Given the description of an element on the screen output the (x, y) to click on. 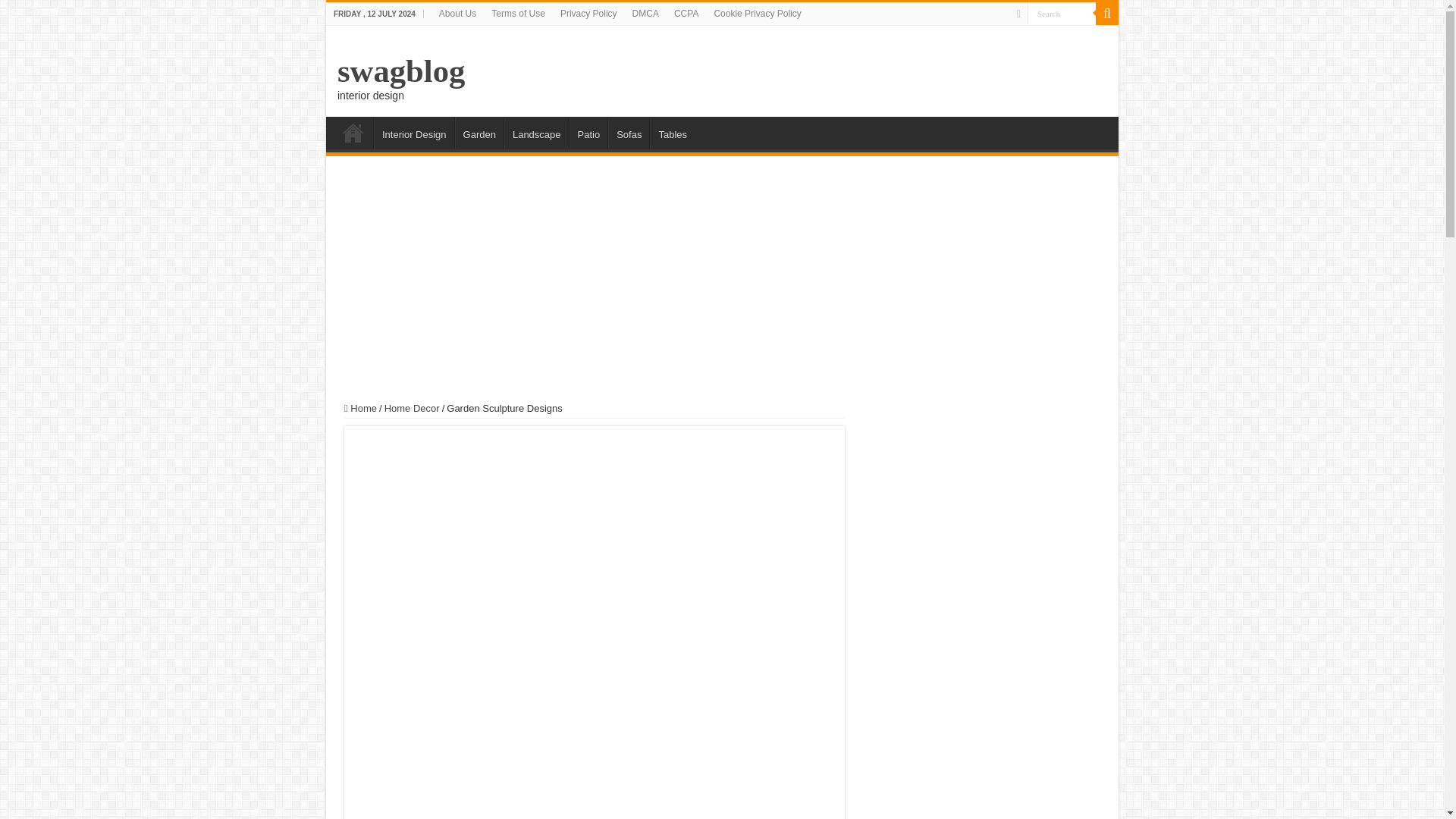
swagblog (400, 70)
Landscape (536, 132)
Interior Design (414, 132)
CCPA (686, 13)
Tables (671, 132)
Search (1061, 13)
Home Decor (411, 408)
Patio (588, 132)
Home (360, 408)
Search (1107, 13)
